Given the description of an element on the screen output the (x, y) to click on. 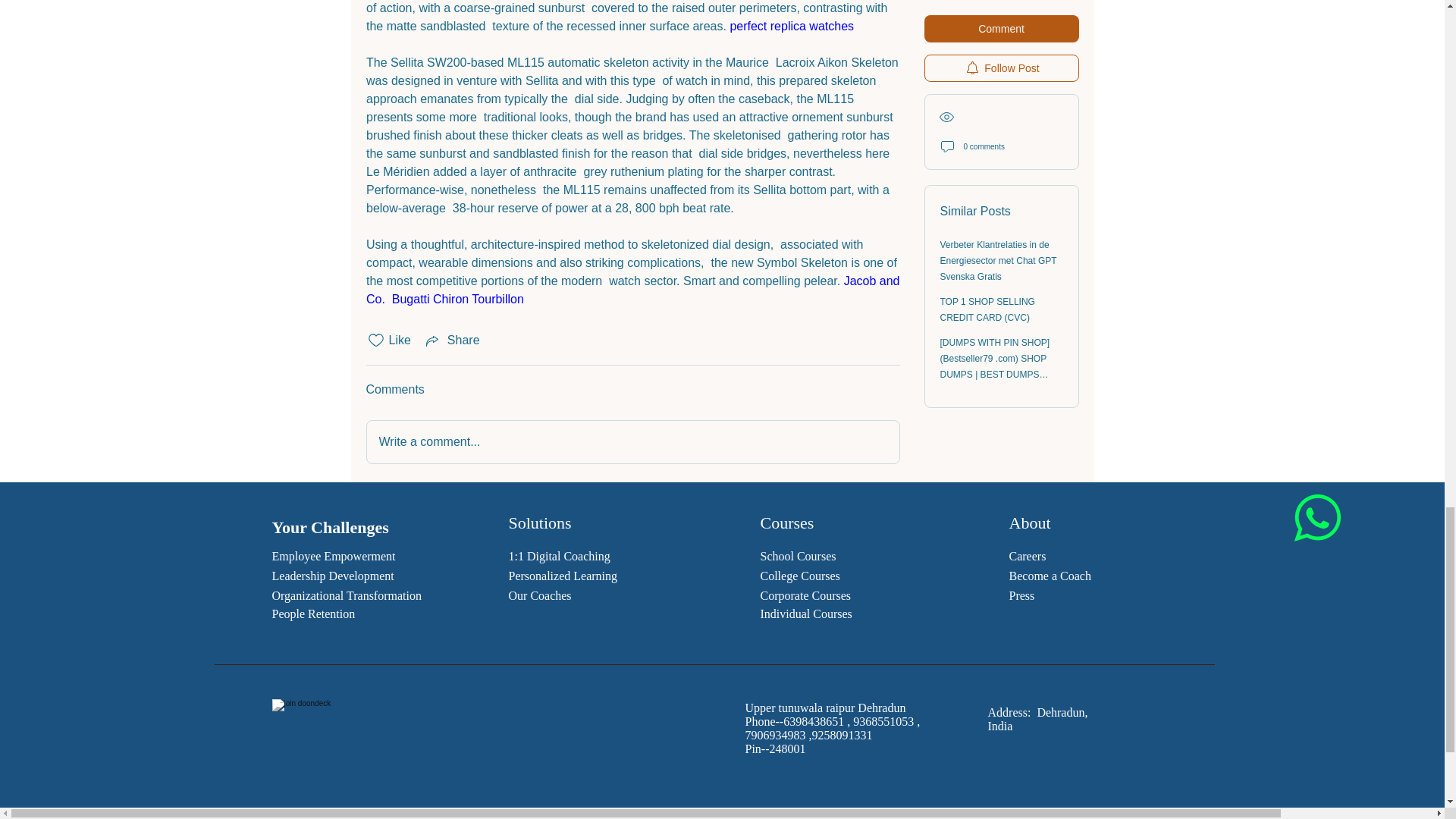
perfect replica watches  (793, 25)
Jacob and Co.  Bugatti Chiron Tourbillon  (633, 289)
